Given the description of an element on the screen output the (x, y) to click on. 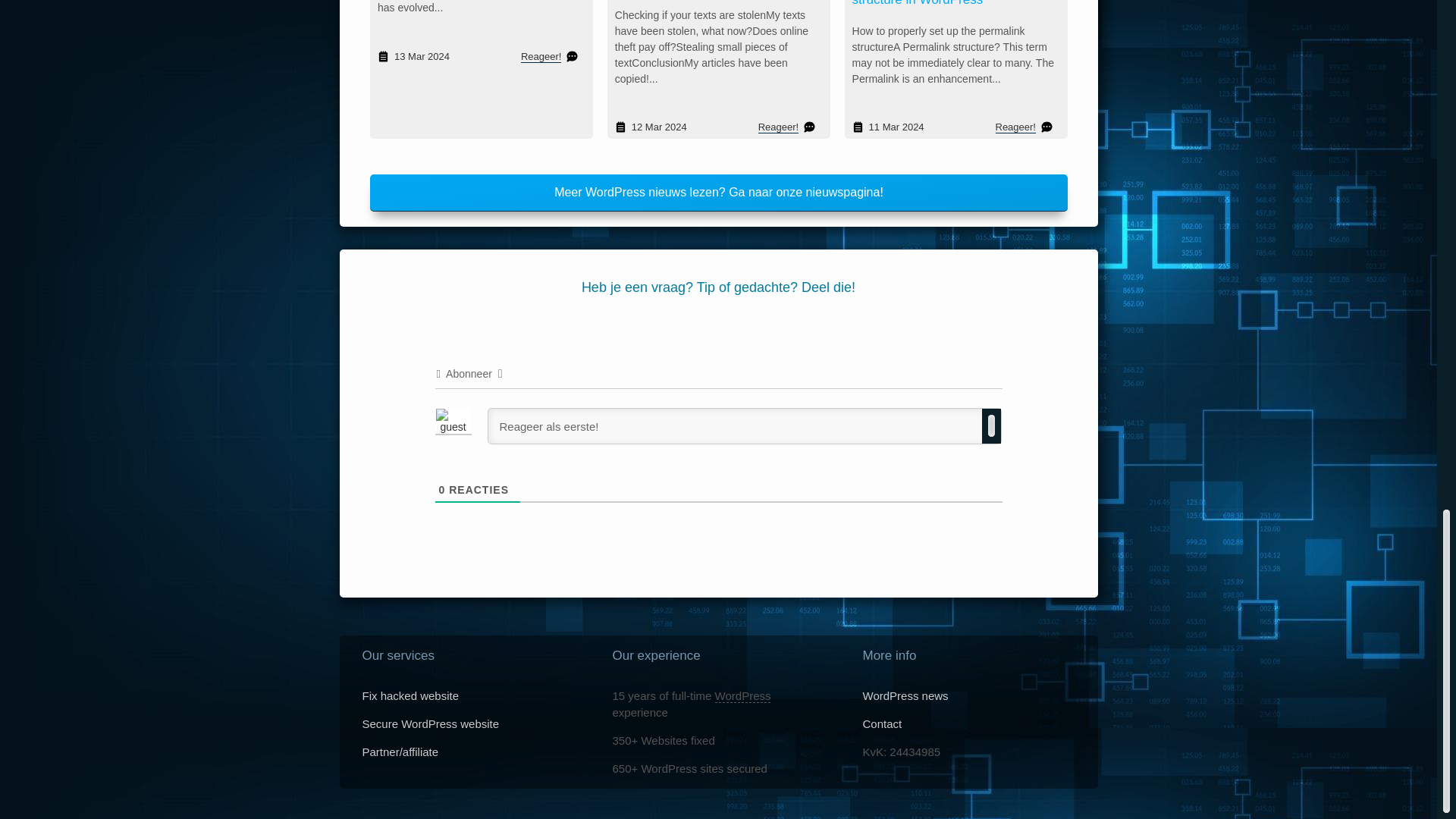
Secure WordPress website (430, 723)
Reageer! (777, 127)
Meer WordPress nieuws lezen? Ga naar onze nieuwspagina! (718, 192)
Reageer! (542, 55)
Reageer! (1014, 127)
Fix hacked website (411, 695)
